Given the description of an element on the screen output the (x, y) to click on. 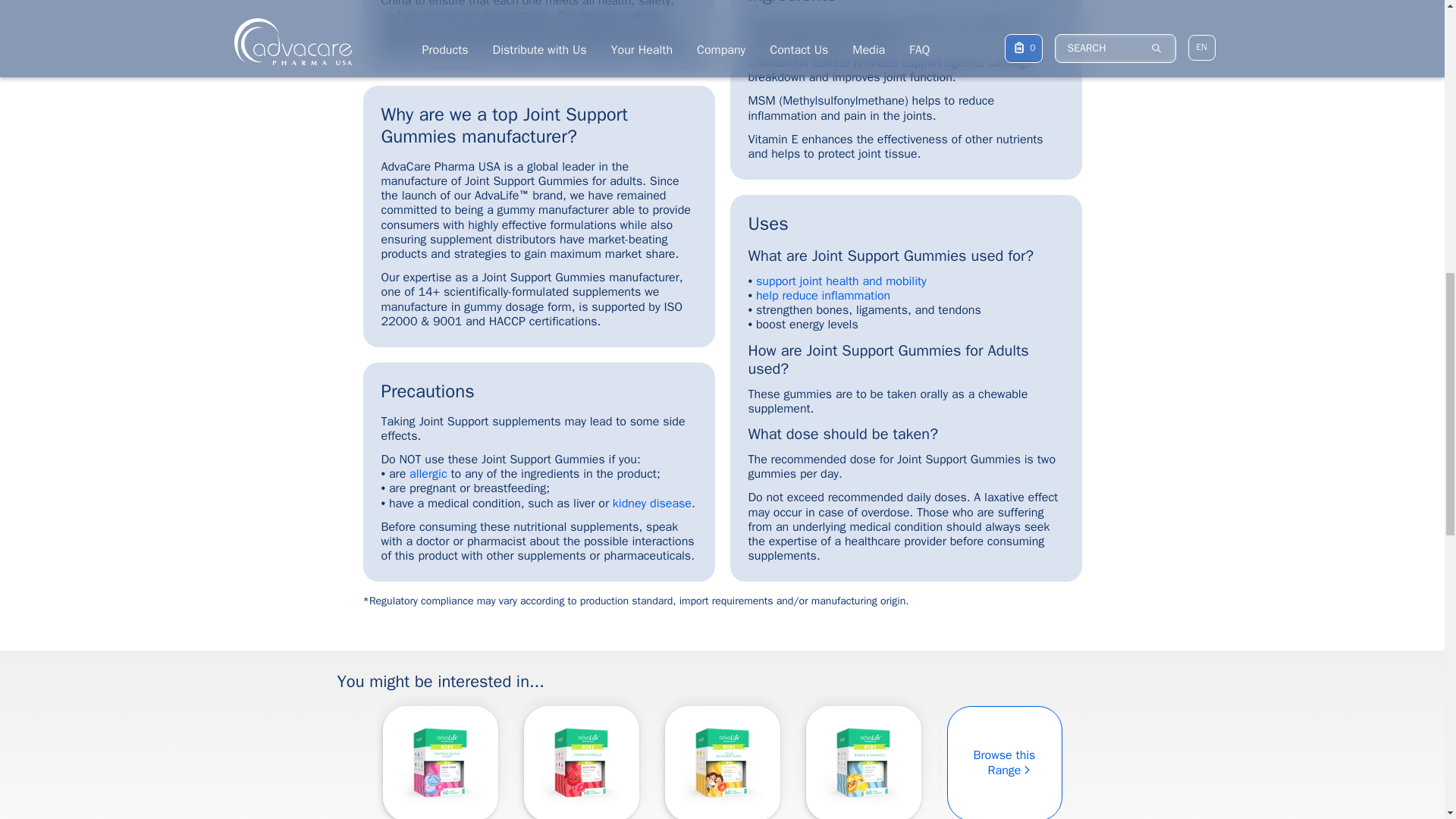
Sleep Gummies (439, 762)
support joint health and mobility (840, 90)
Appetite Stimulant Gummies (1144, 762)
Iron Gummies (580, 762)
help reduce inflammation (822, 105)
allergic (427, 473)
Omega-3 Gummies (1286, 762)
kidney disease (651, 503)
Vitamin D Gummies (862, 762)
Probiotic Gummies (1003, 762)
Multivitamin Gummies (722, 762)
